Given the description of an element on the screen output the (x, y) to click on. 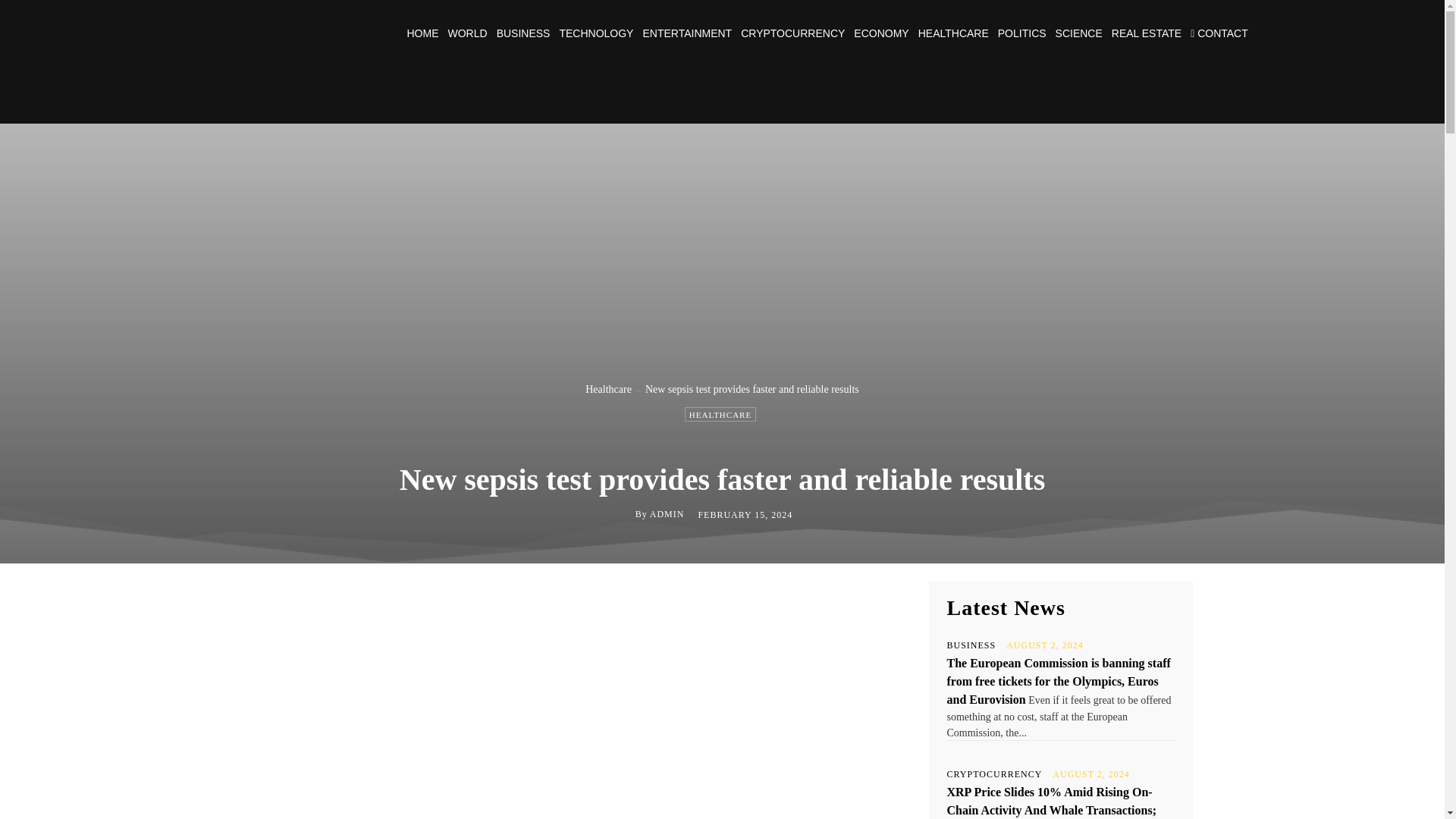
Healthcare (608, 389)
BUSINESS (523, 33)
REAL ESTATE (1146, 33)
ECONOMY (880, 33)
WORLD (466, 33)
SCIENCE (1078, 33)
CRYPTOCURRENCY (792, 33)
ENTERTAINMENT (687, 33)
ADMIN (666, 513)
HEALTHCARE (719, 414)
TECHNOLOGY (596, 33)
CONTACT (1219, 33)
HEALTHCARE (953, 33)
POLITICS (1021, 33)
